Given the description of an element on the screen output the (x, y) to click on. 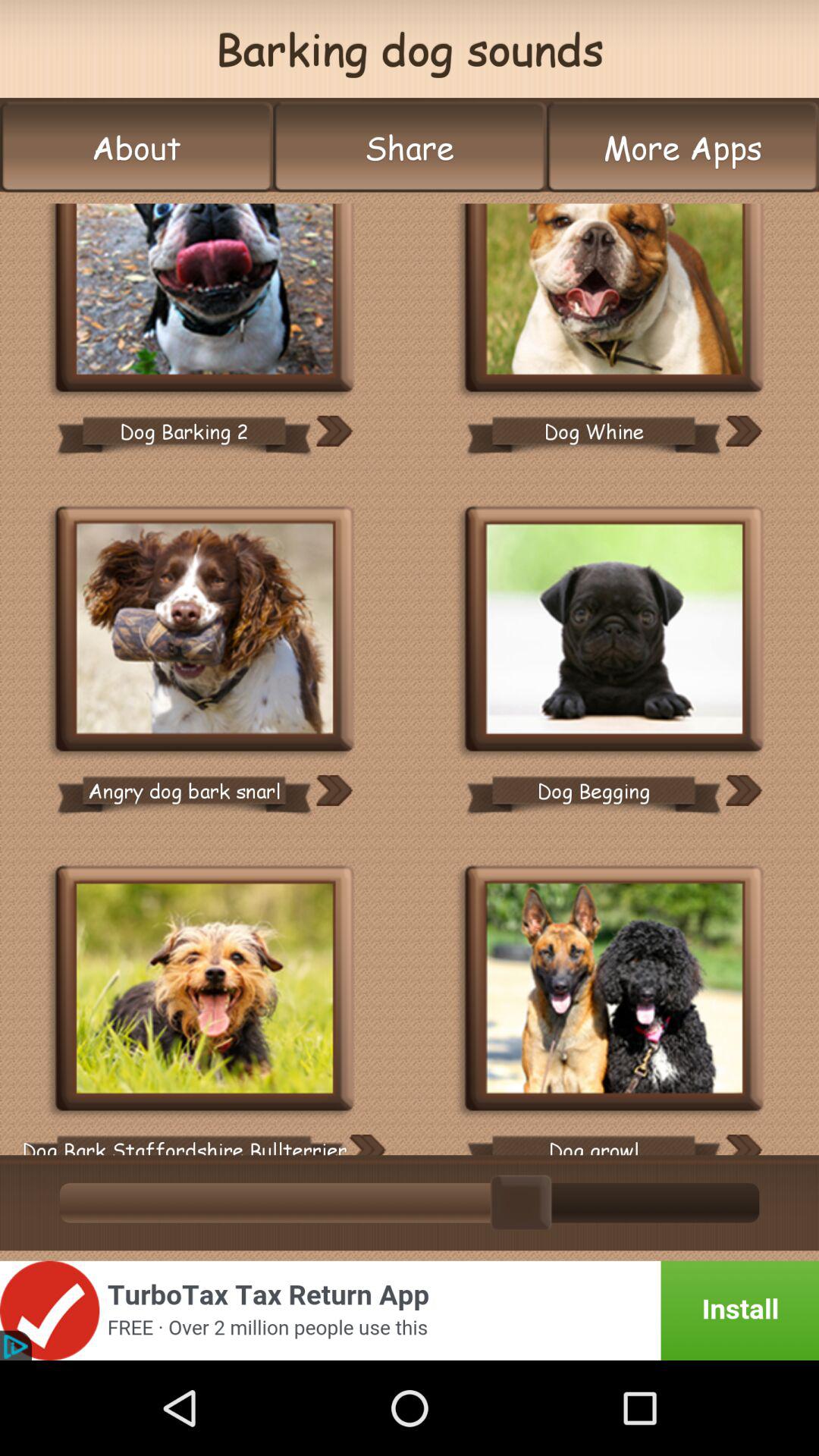
turn off item to the left of share button (136, 147)
